Given the description of an element on the screen output the (x, y) to click on. 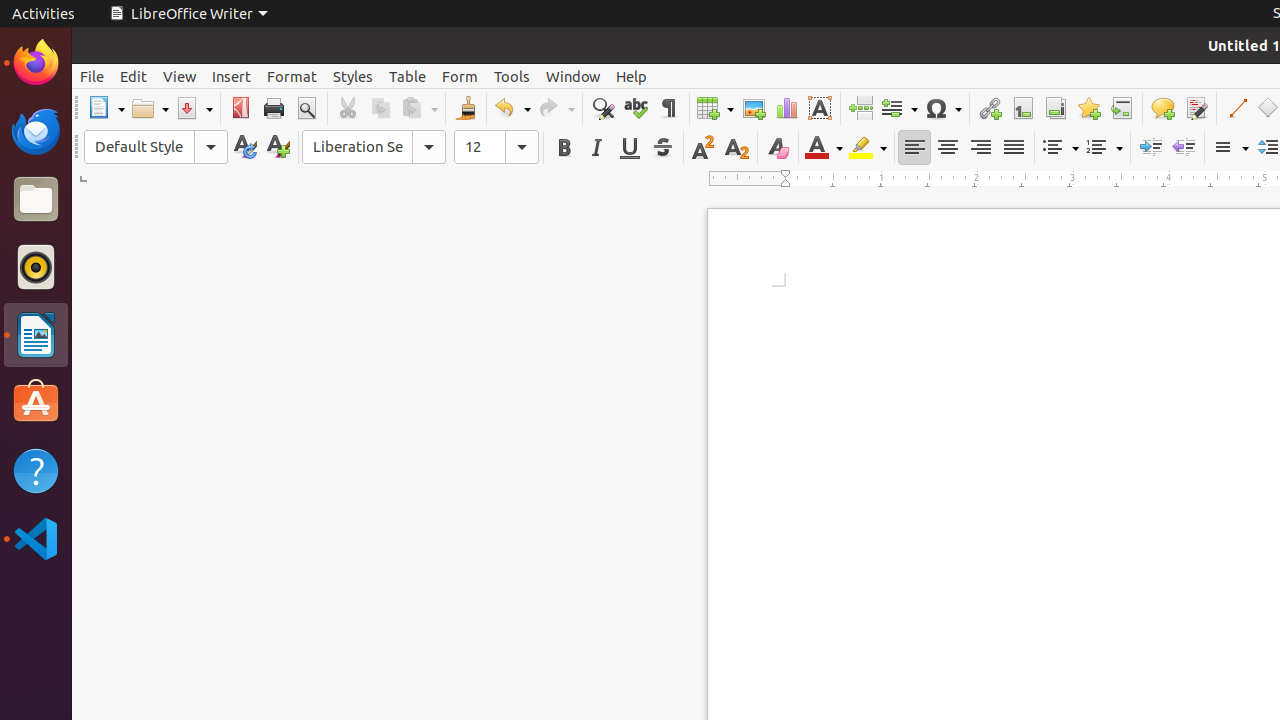
Cross-reference Element type: push-button (1121, 108)
Page Break Element type: push-button (860, 108)
Redo Element type: push-button (556, 108)
Line Spacing Element type: push-button (1230, 147)
